Given the description of an element on the screen output the (x, y) to click on. 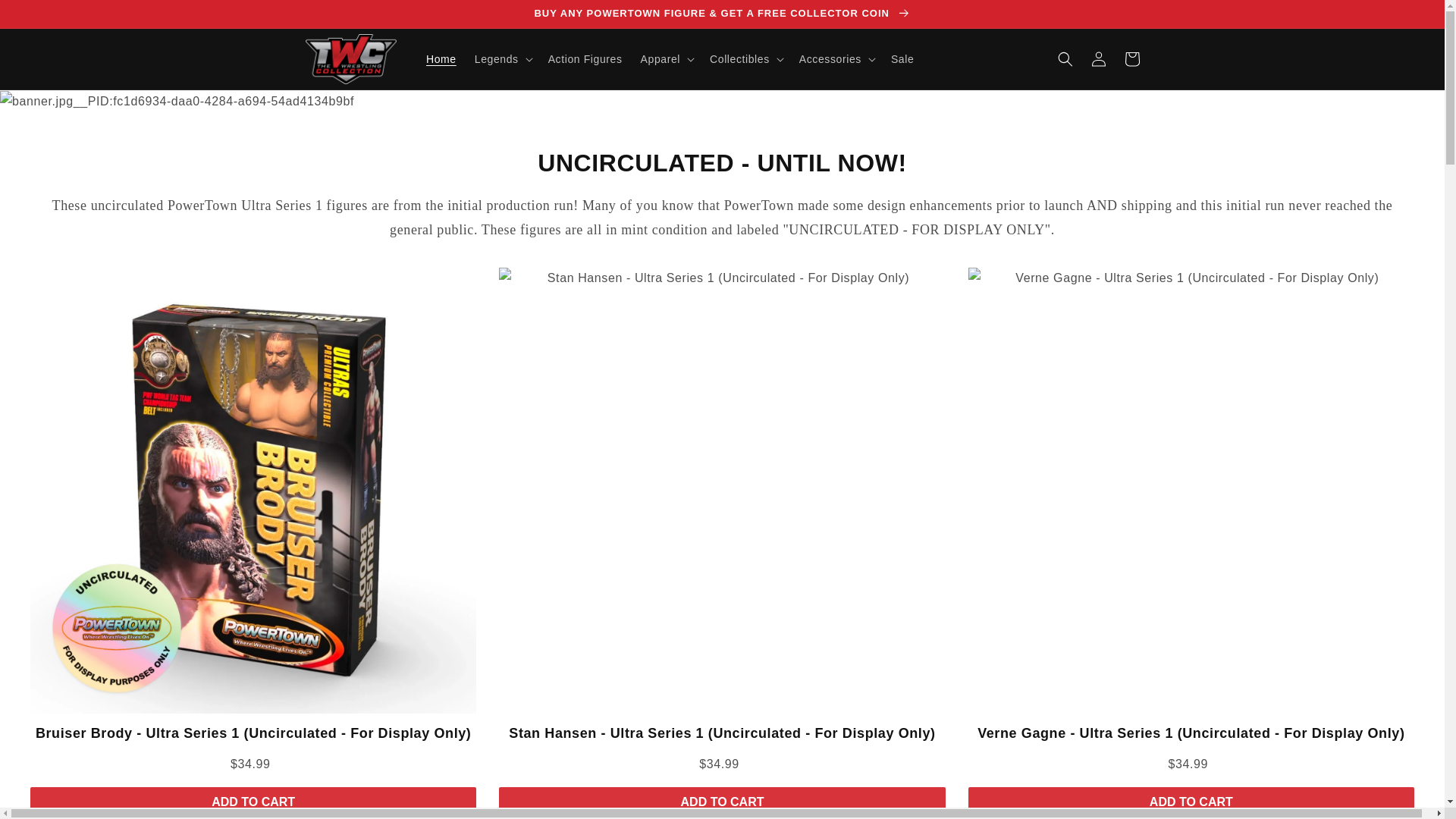
Home (440, 59)
Skip to content (45, 17)
PowerTown (722, 101)
